Given the description of an element on the screen output the (x, y) to click on. 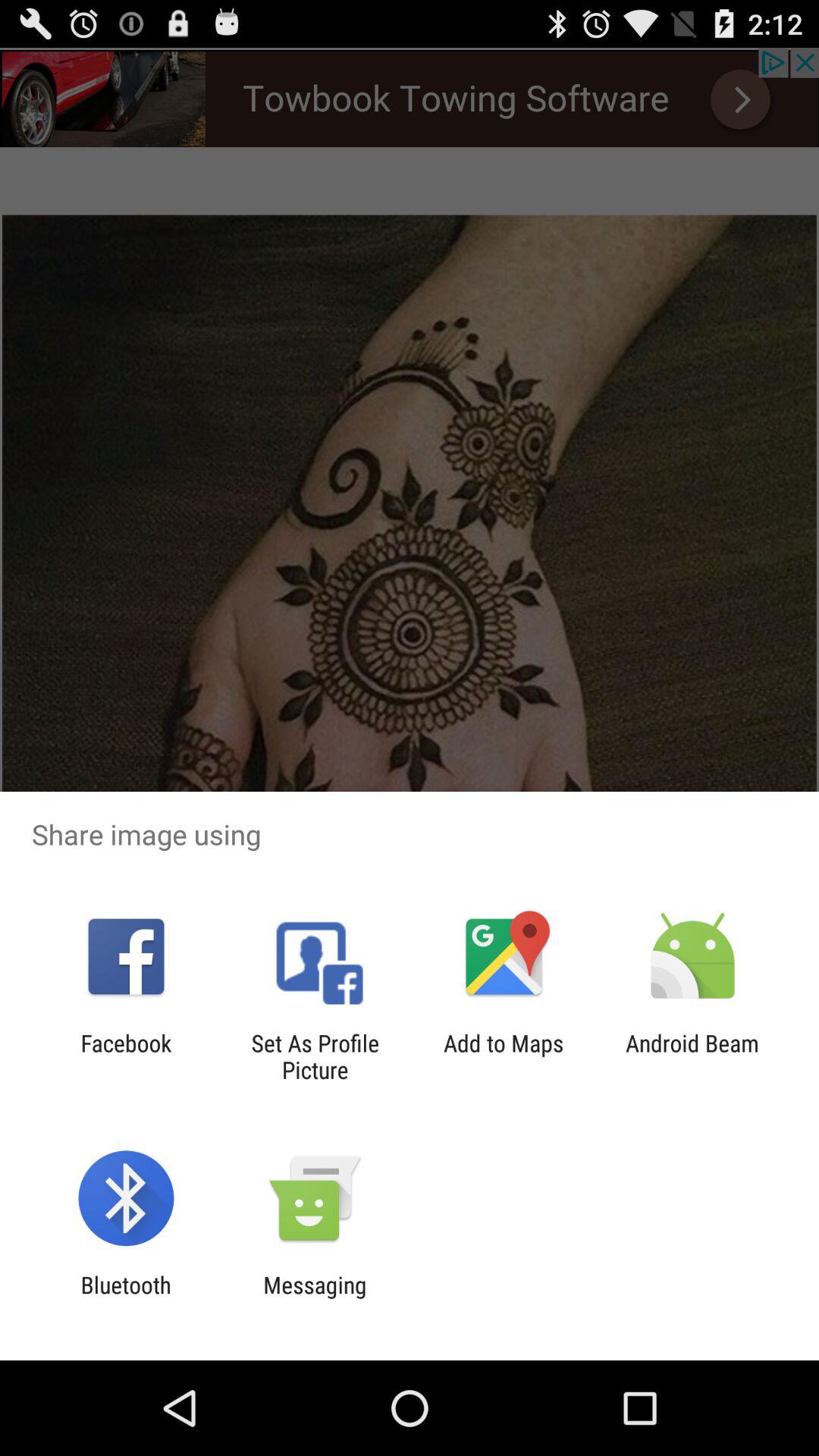
scroll until the add to maps app (503, 1056)
